Given the description of an element on the screen output the (x, y) to click on. 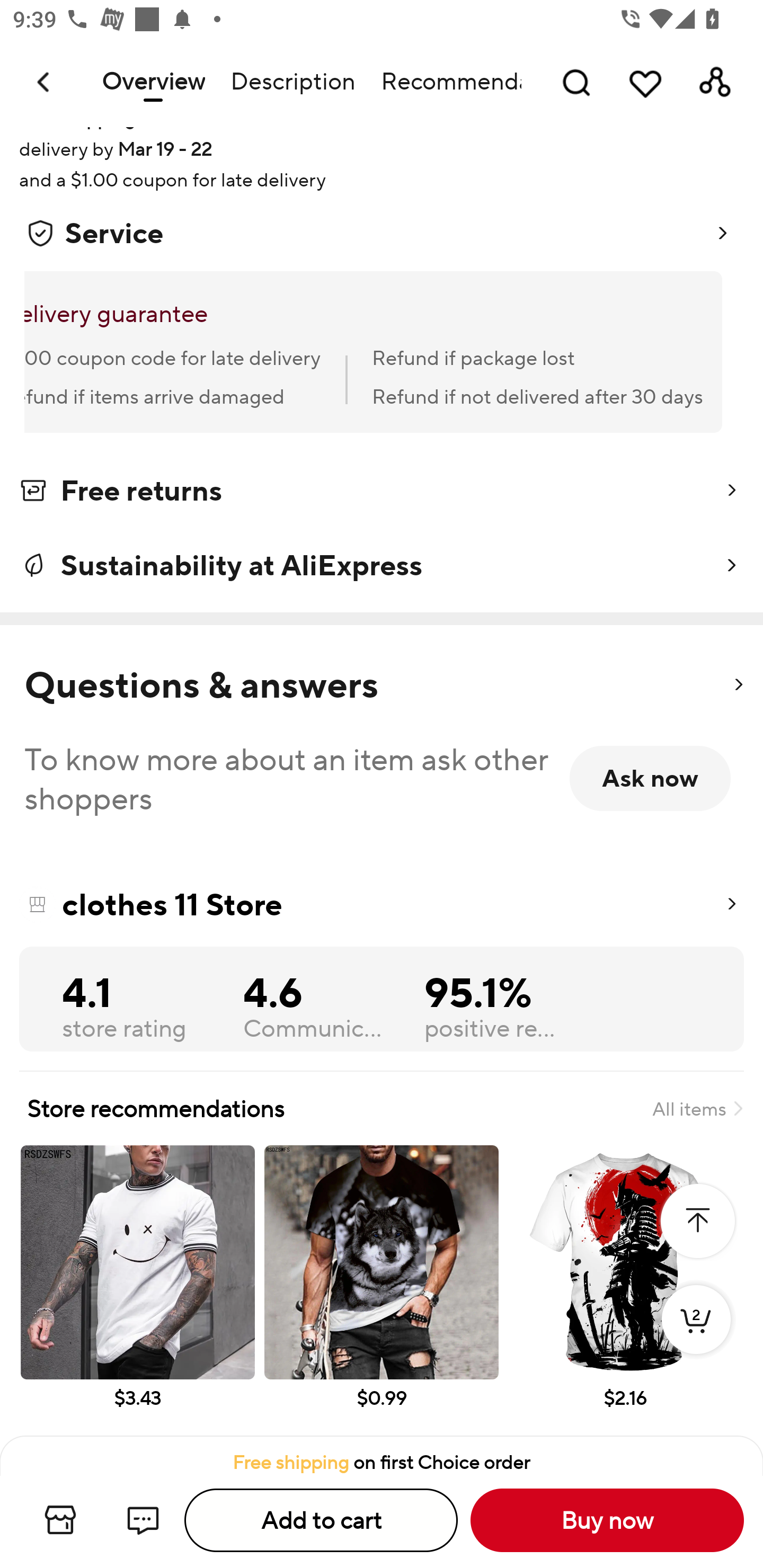
Navigate up (44, 82)
Description (292, 81)
Recommendations (444, 81)
Free returns  (381, 493)
Sustainability at AliExpress  (381, 566)
 (737, 684)
Ask now (649, 778)
All items (697, 1108)
$3.43 (137, 1290)
$0.99 (381, 1290)
$2.16 (625, 1290)
 (697, 1220)
2 (695, 1338)
Add to cart (320, 1520)
Buy now (606, 1520)
